Given the description of an element on the screen output the (x, y) to click on. 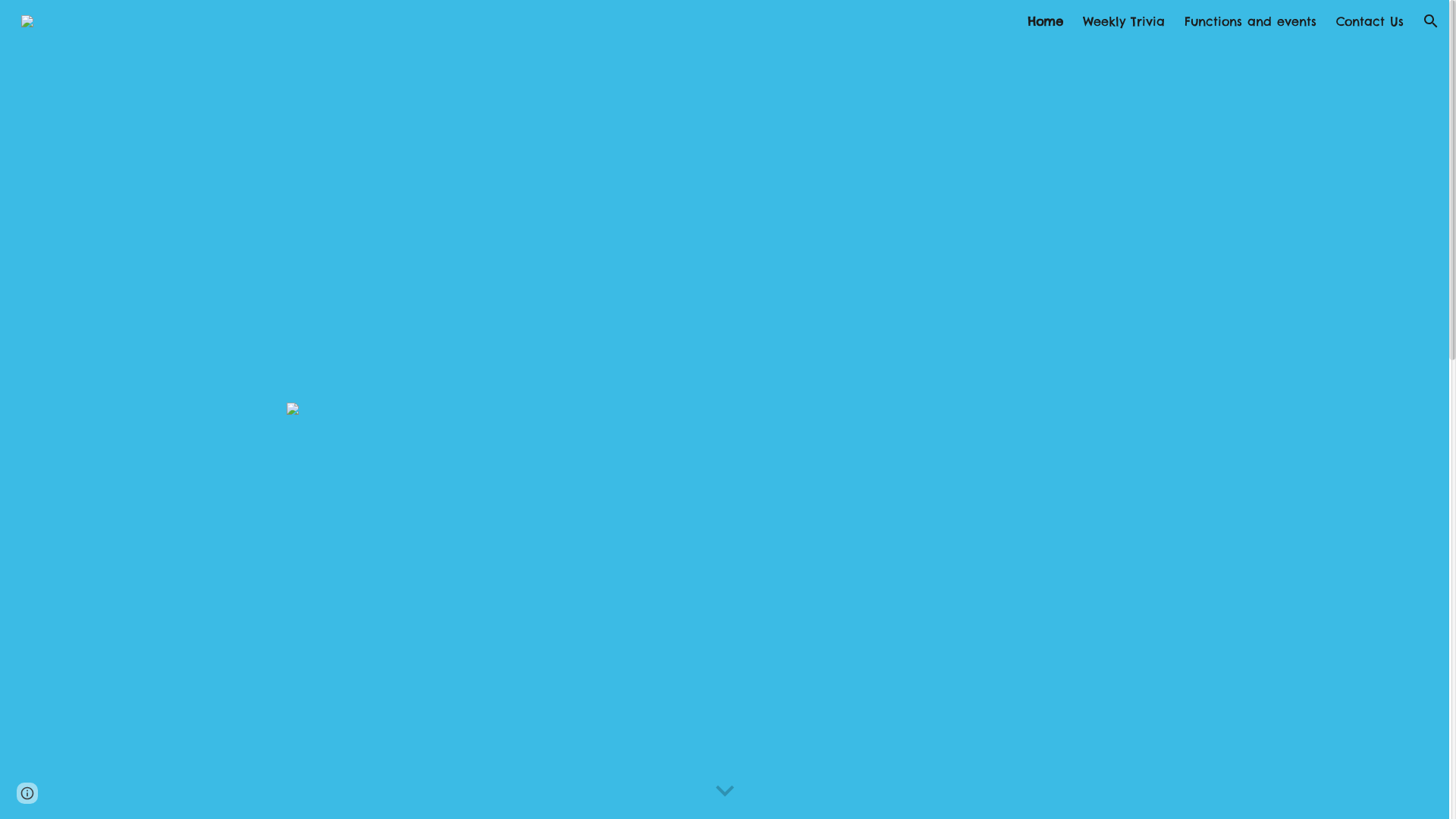
Contact Us Element type: text (1369, 20)
Home Element type: text (1045, 20)
Weekly Trivia Element type: text (1123, 20)
Functions and events Element type: text (1250, 20)
